Given the description of an element on the screen output the (x, y) to click on. 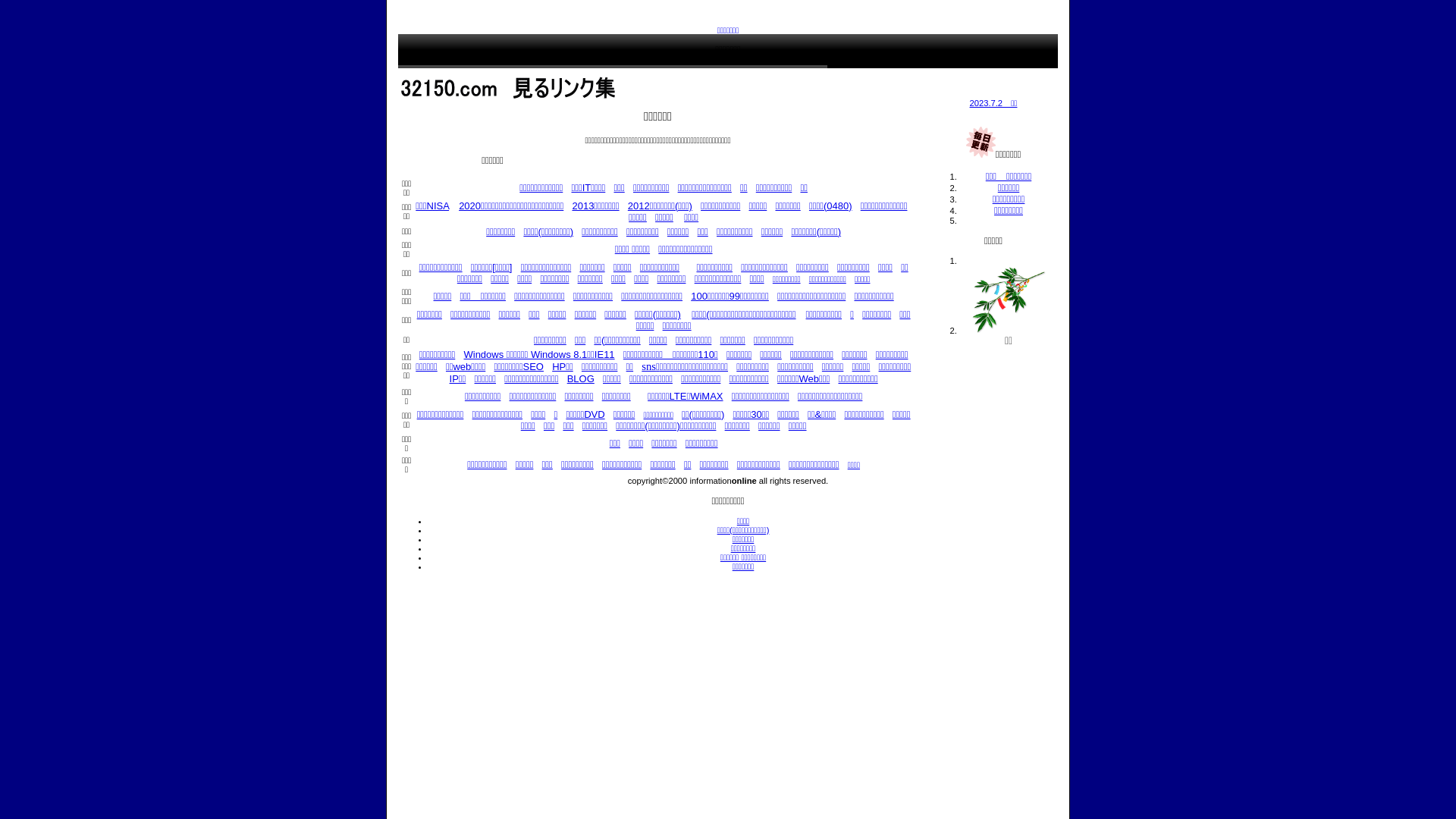
BLOG Element type: text (580, 378)
TOP PAGE Element type: text (436, 82)
